Given the description of an element on the screen output the (x, y) to click on. 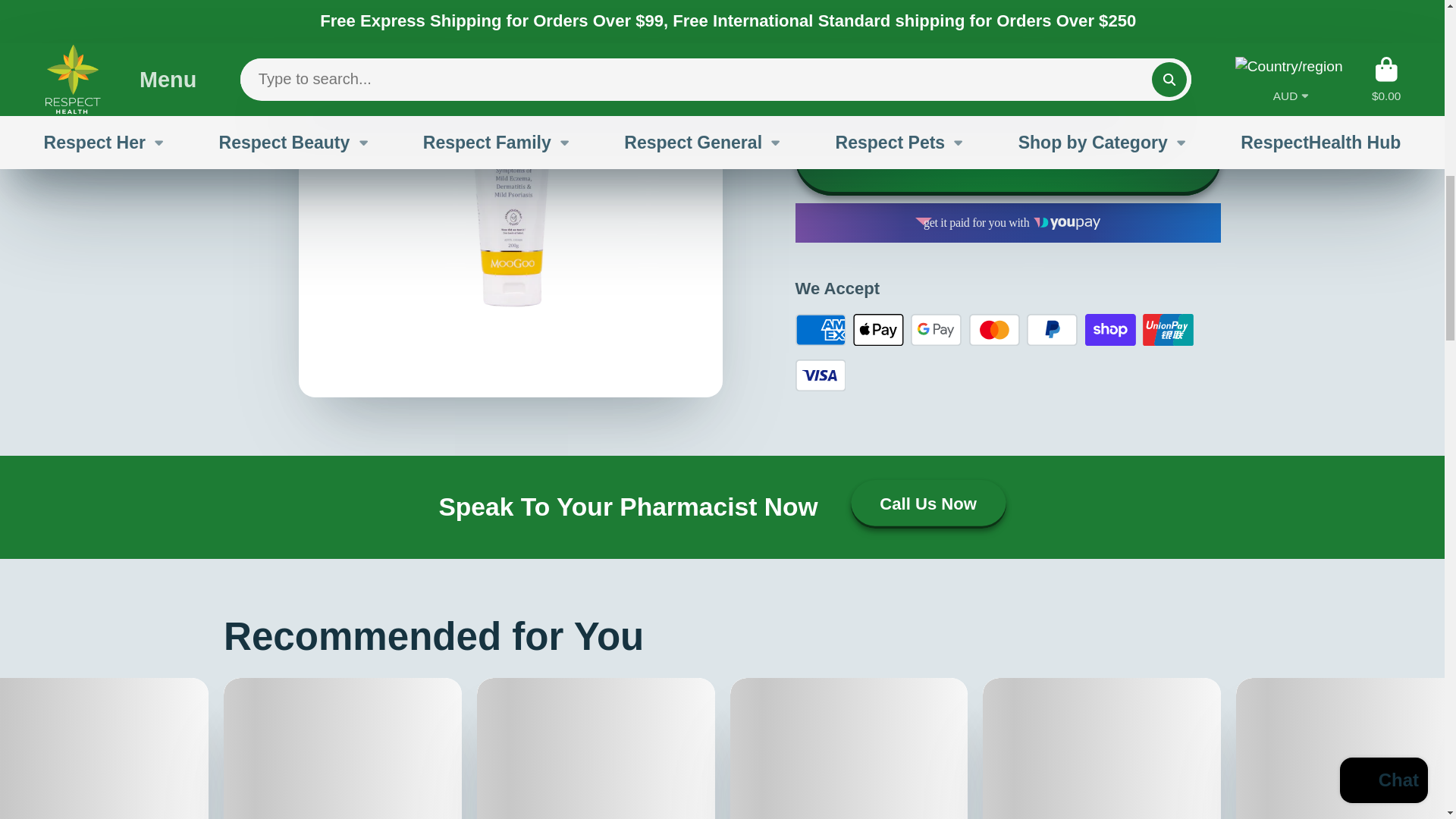
American Express (819, 329)
Google Pay (935, 329)
PayPal (1051, 329)
Mastercard (994, 329)
Apple Pay (878, 329)
